Given the description of an element on the screen output the (x, y) to click on. 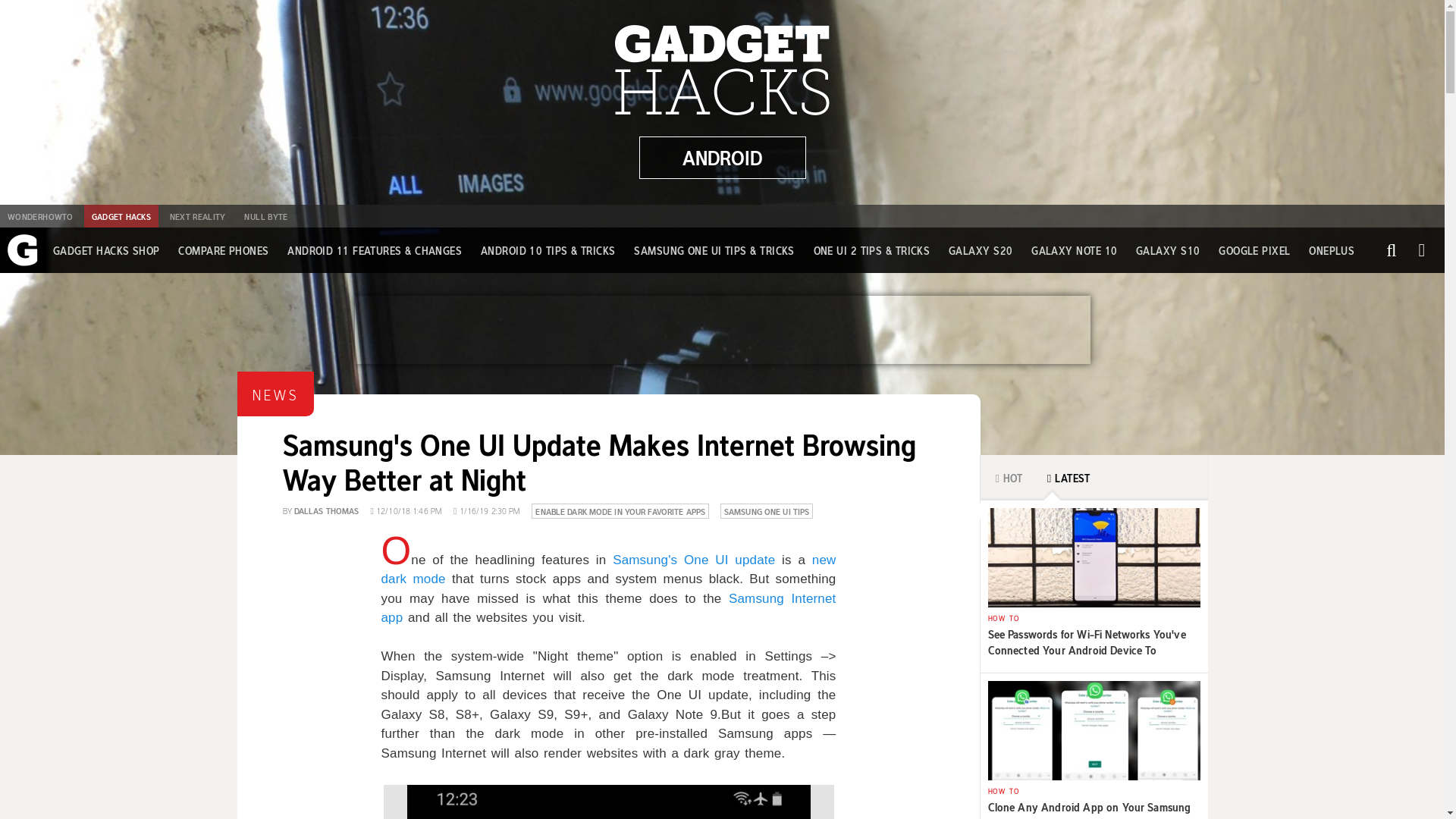
NEXT REALITY (196, 215)
WONDERHOWTO (40, 215)
COMPARE PHONES (222, 249)
ANDROID (722, 157)
GOOGLE PIXEL (1254, 249)
ENABLE DARK MODE IN YOUR FAVORITE APPS (619, 510)
ONEPLUS (1331, 249)
GALAXY S20 (981, 249)
NULL BYTE (265, 215)
GALAXY NOTE 10 (1073, 249)
Unchain your Android with the best tweaks, hacks, and apps. (722, 157)
DALLAS THOMAS (326, 509)
GADGET HACKS (121, 215)
GALAXY S10 (1167, 249)
